Given the description of an element on the screen output the (x, y) to click on. 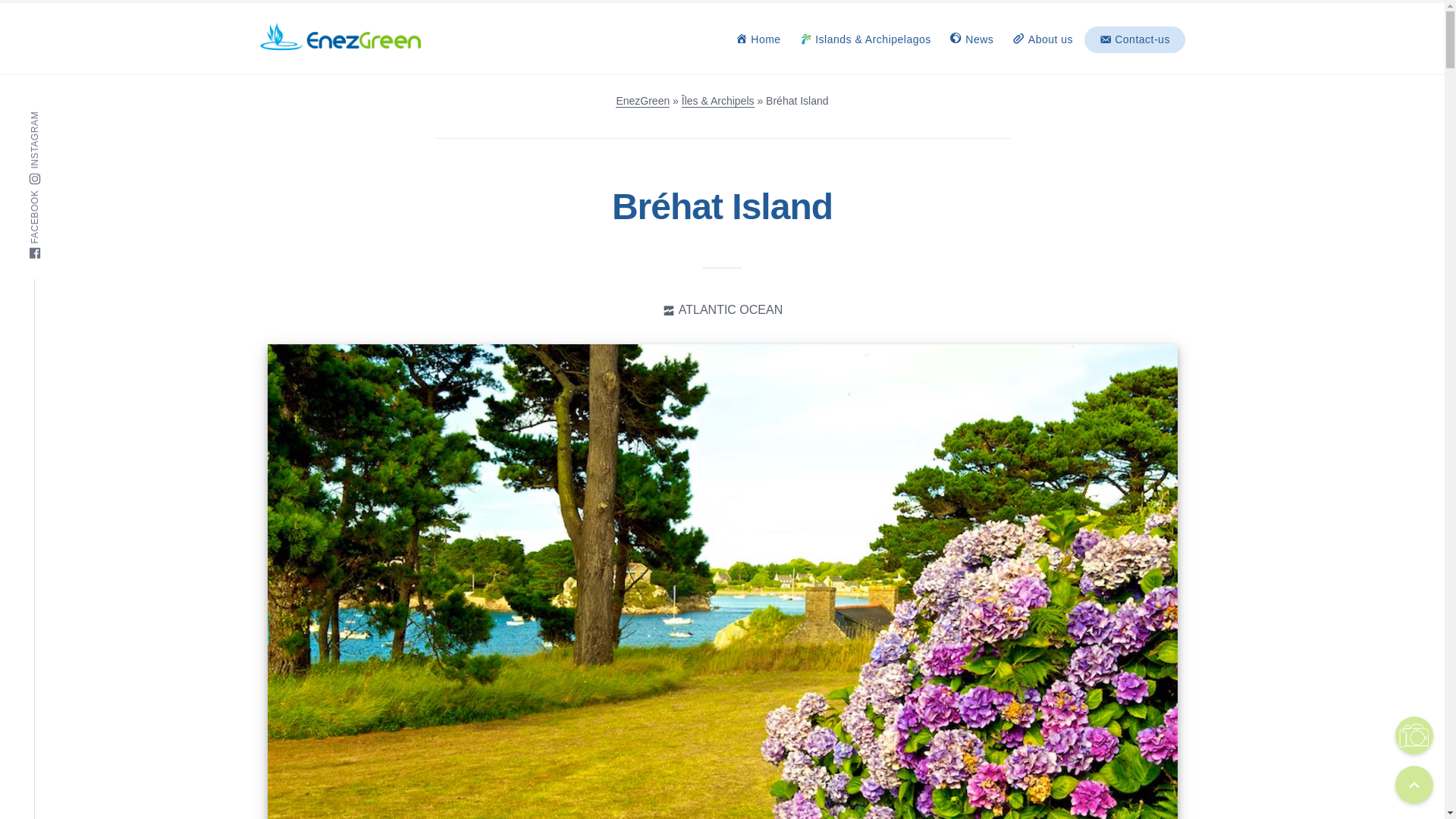
Contact-us (1134, 39)
EnezGreen (642, 101)
About us (1042, 38)
Home (758, 38)
Go to EnezGreen. (642, 101)
EnezGreen (309, 63)
News (971, 38)
